Given the description of an element on the screen output the (x, y) to click on. 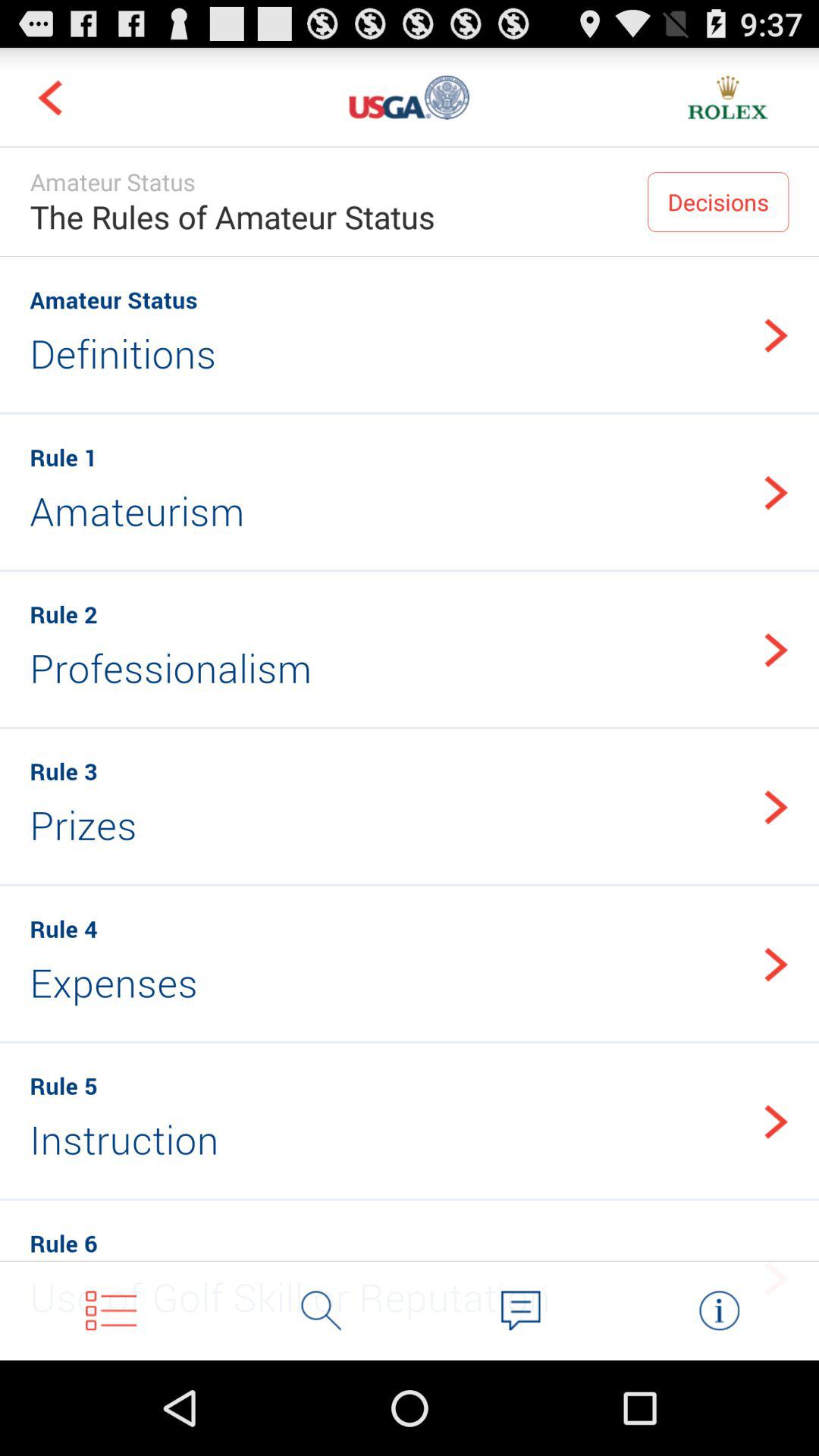
click icon at the top left corner (49, 97)
